Given the description of an element on the screen output the (x, y) to click on. 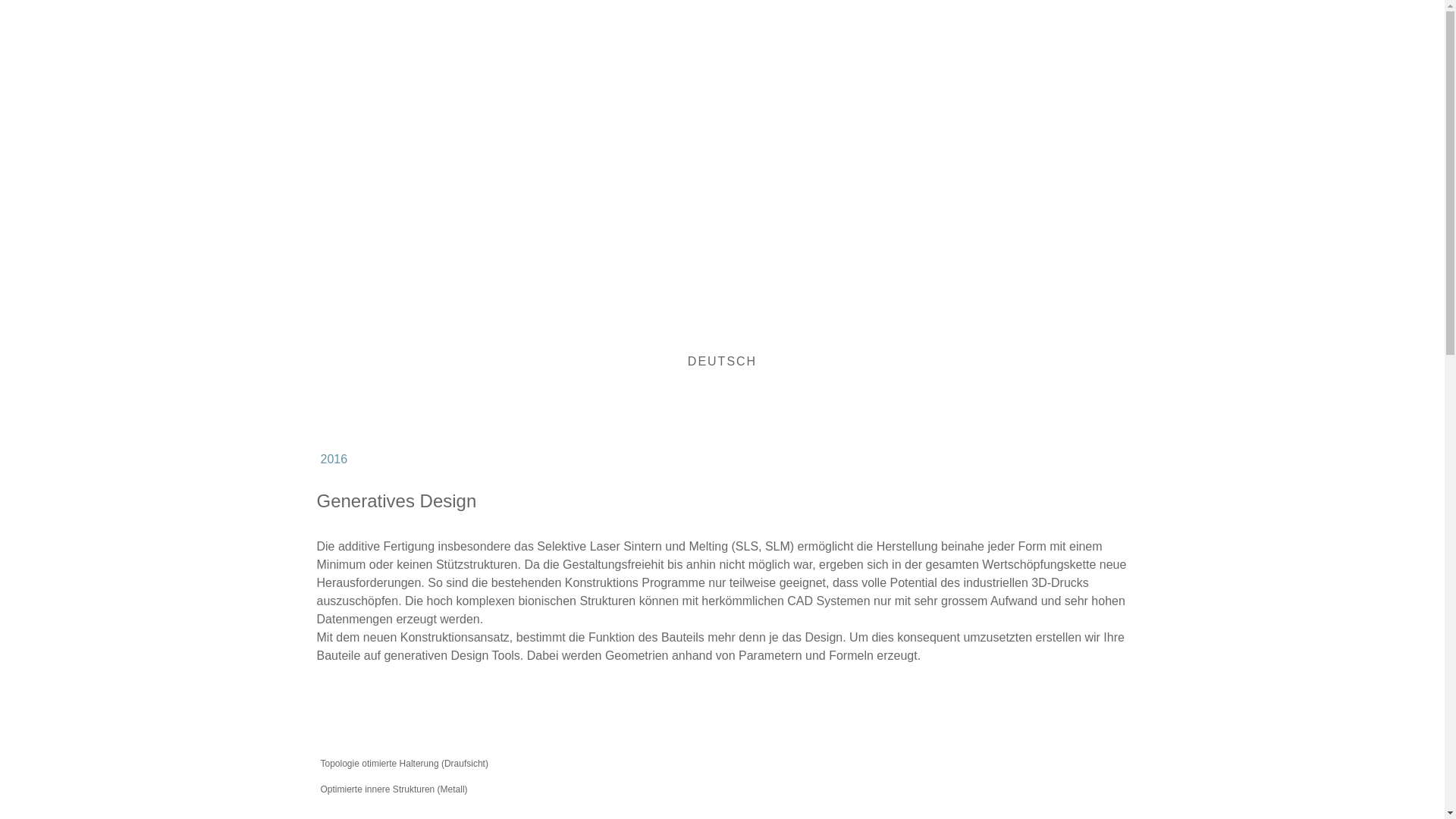
2016 Element type: text (721, 459)
Bionik additive Fertigung Element type: text (574, 157)
DEUTSCH Element type: text (722, 361)
